Given the description of an element on the screen output the (x, y) to click on. 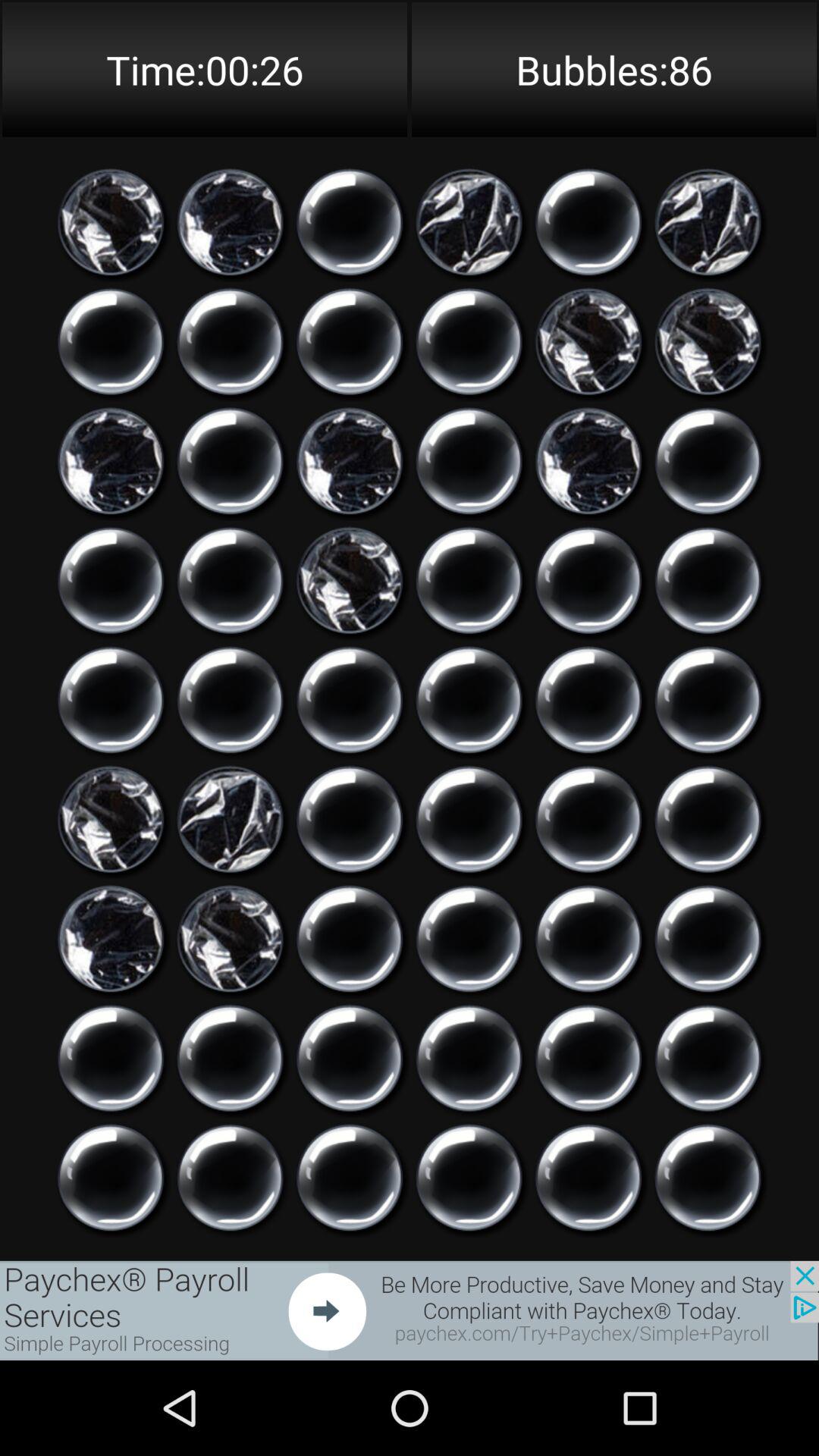
bubble image (230, 819)
